Given the description of an element on the screen output the (x, y) to click on. 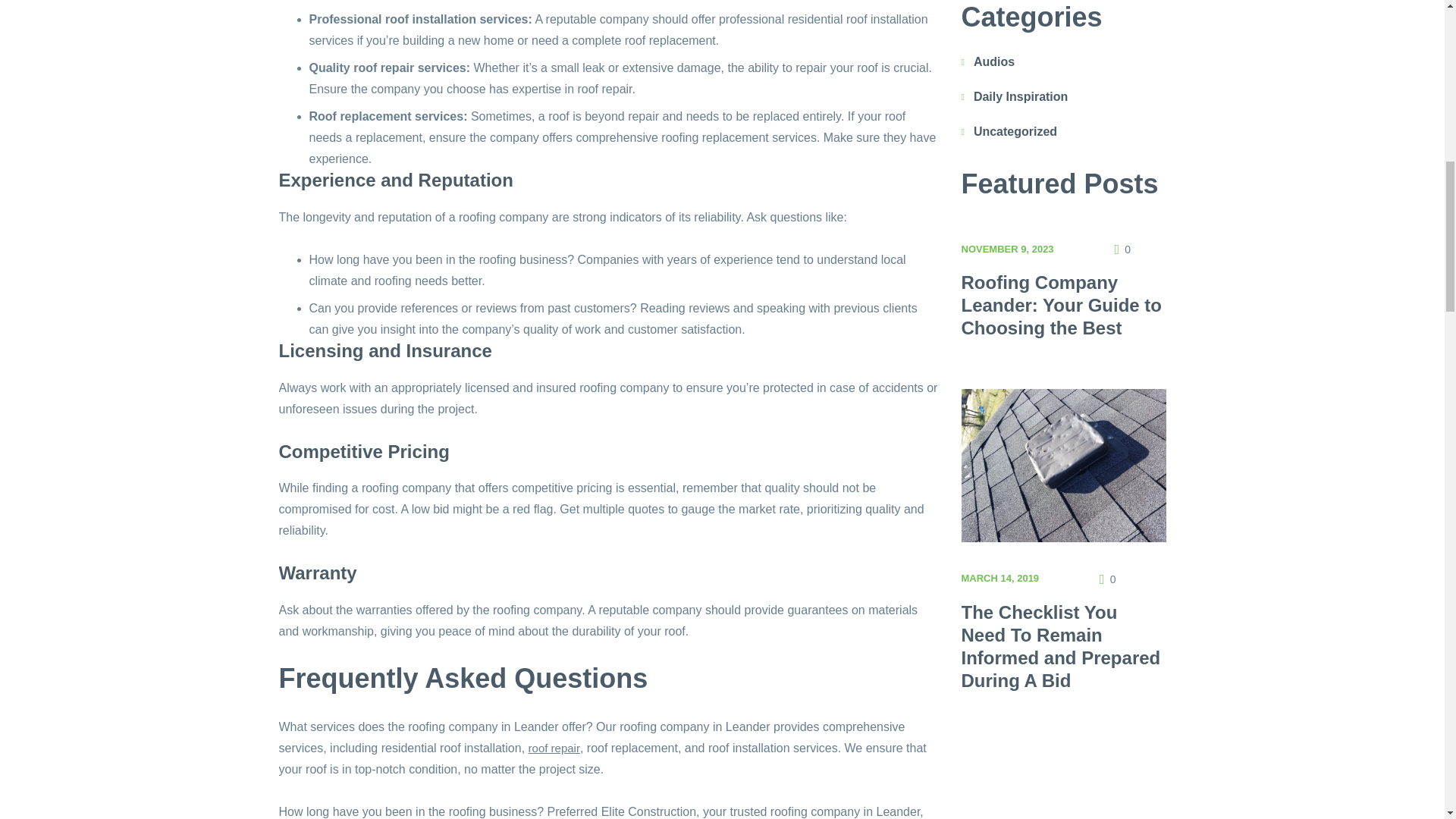
roof repair (553, 748)
Uncategorized (1015, 131)
Roofing Company Leander: Your Guide to Choosing the Best (1060, 304)
NOVEMBER 9, 2023 (1007, 247)
Audios (994, 61)
Daily Inspiration (1020, 95)
roof repair (553, 748)
